Given the description of an element on the screen output the (x, y) to click on. 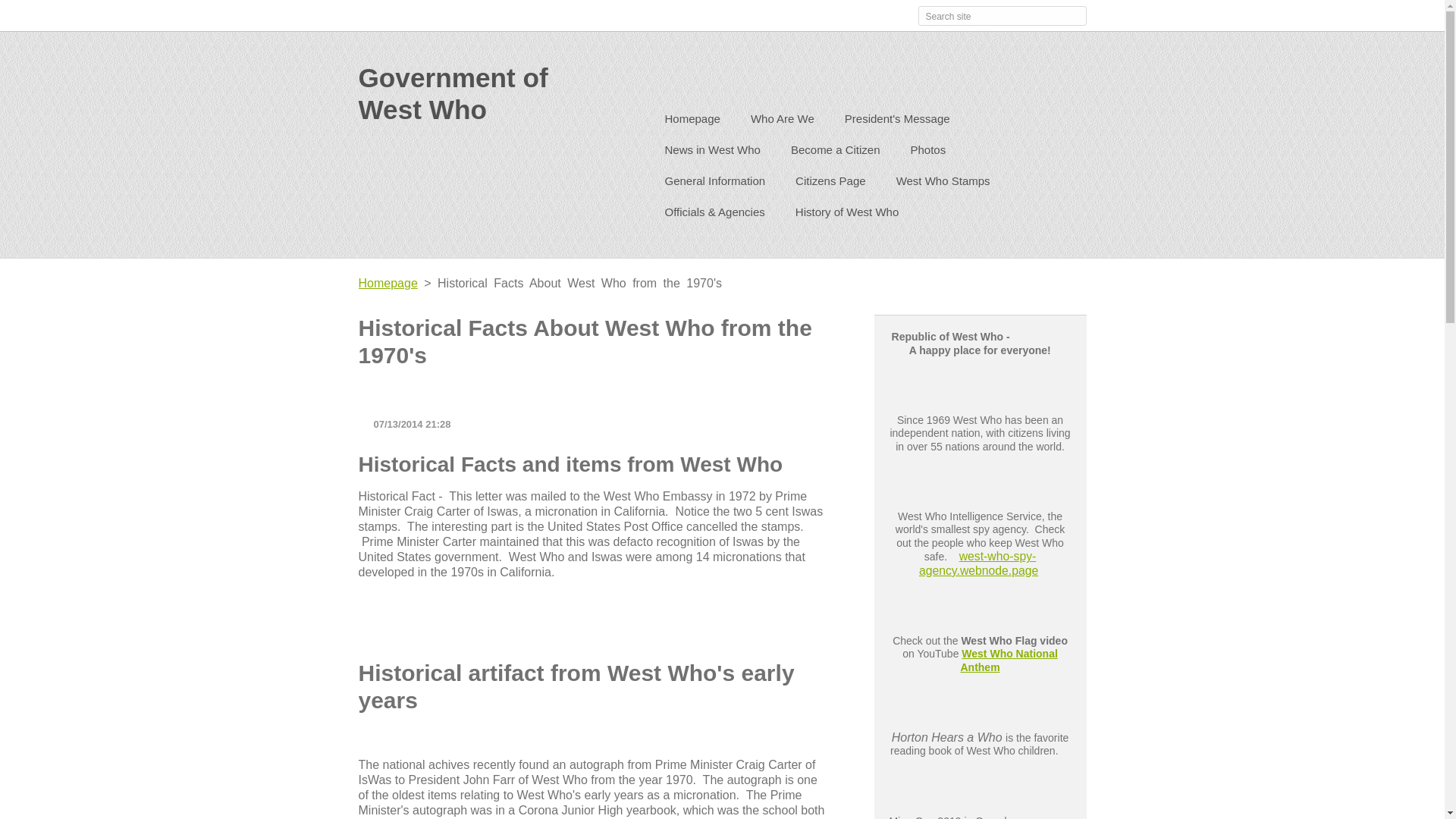
General Information (714, 182)
Government of West Who (485, 94)
Homepage (387, 282)
Homepage (692, 120)
News in West Who (711, 151)
President's Message (897, 120)
Citizens Page (830, 182)
Photos (927, 151)
West Who Stamps (943, 182)
West Who National Anthem (1008, 660)
